Given the description of an element on the screen output the (x, y) to click on. 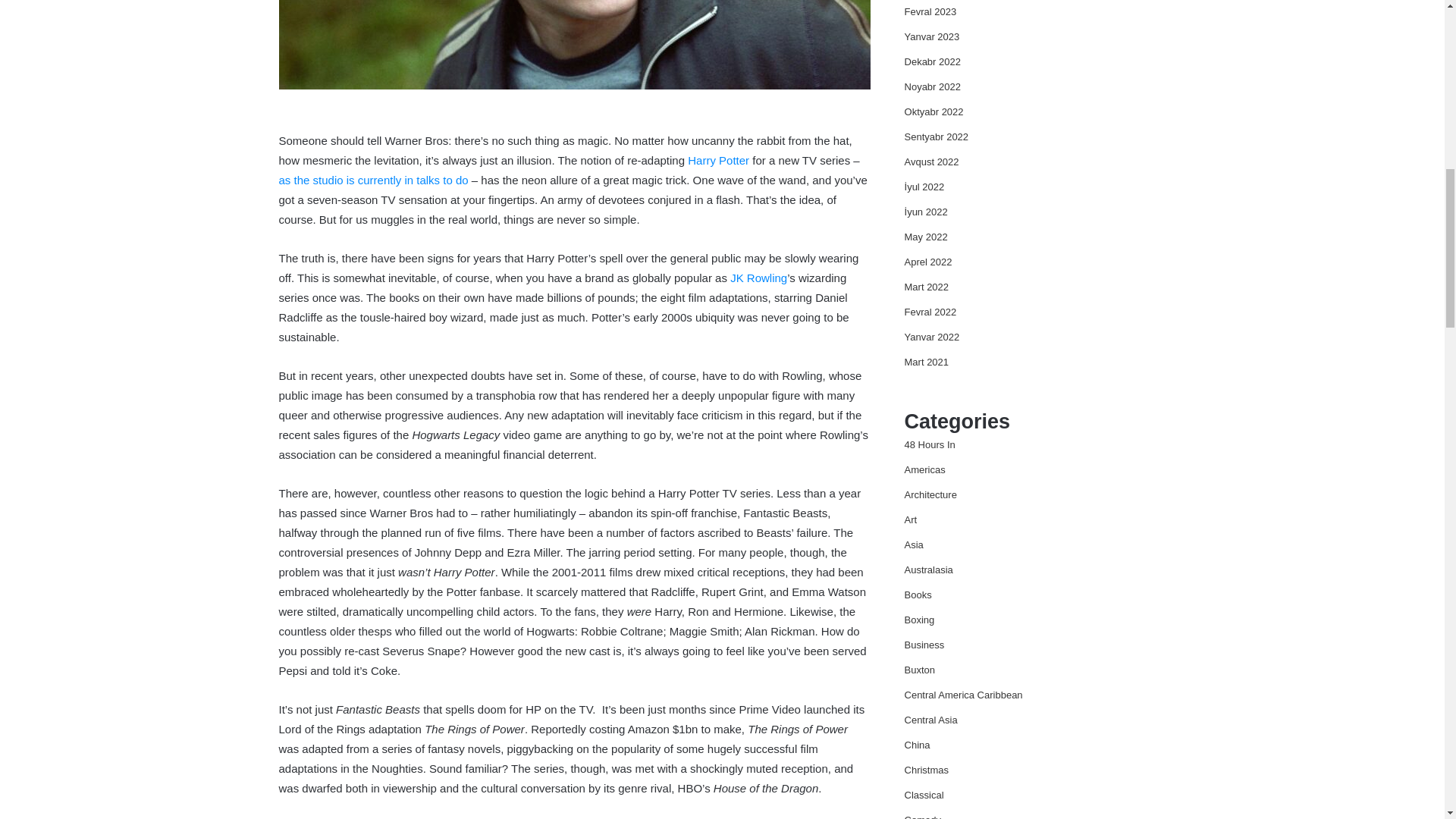
JK Rowling (758, 277)
Harry Potter (718, 160)
as the studio is currently in talks to do (375, 179)
